Given the description of an element on the screen output the (x, y) to click on. 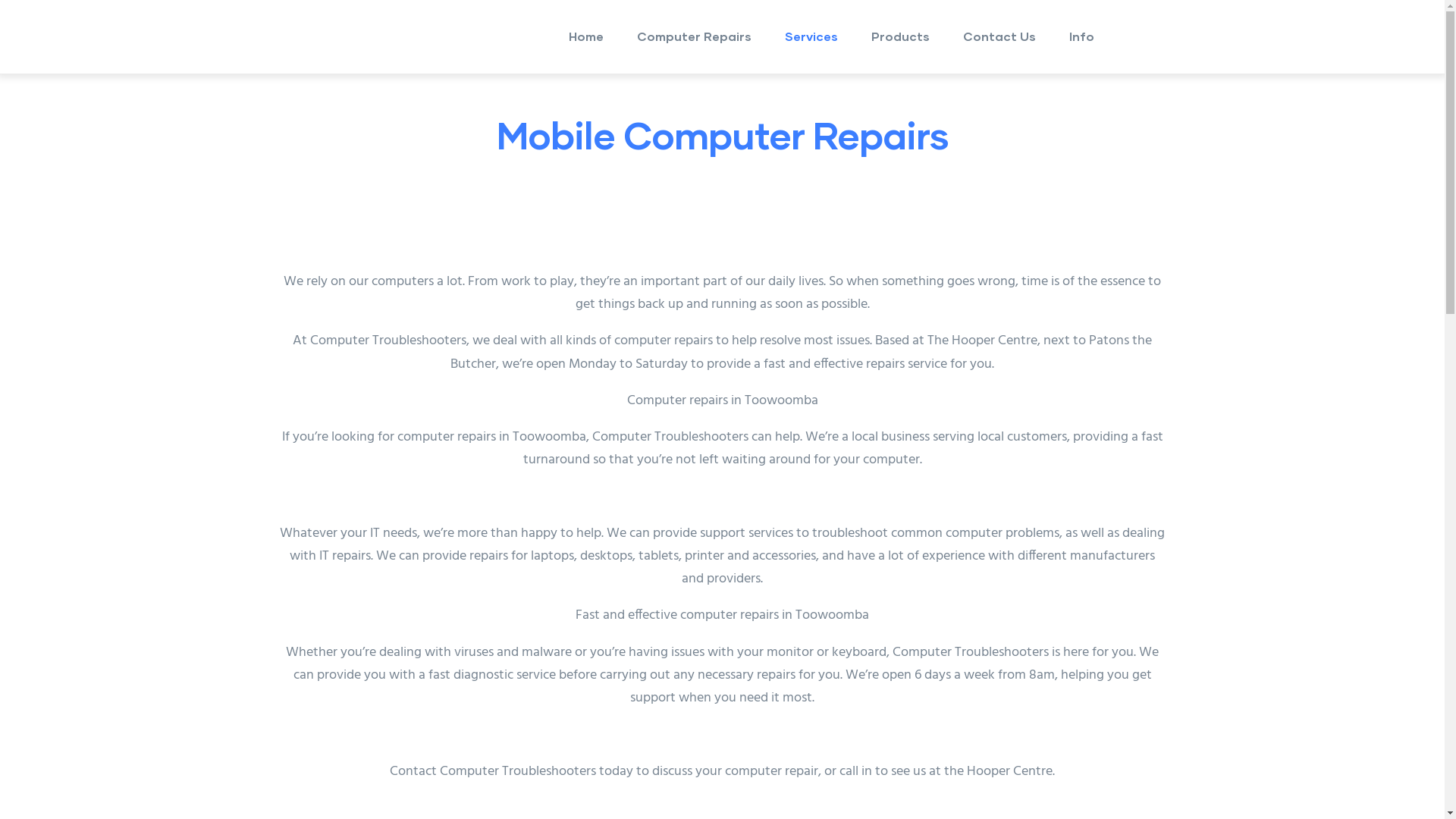
Home Element type: text (585, 36)
Skip to main content Element type: text (0, 0)
Contact Us Element type: text (999, 36)
Computer Repairs Element type: text (693, 36)
Services Element type: text (810, 36)
Info Element type: text (1081, 36)
Products Element type: text (899, 36)
